Given the description of an element on the screen output the (x, y) to click on. 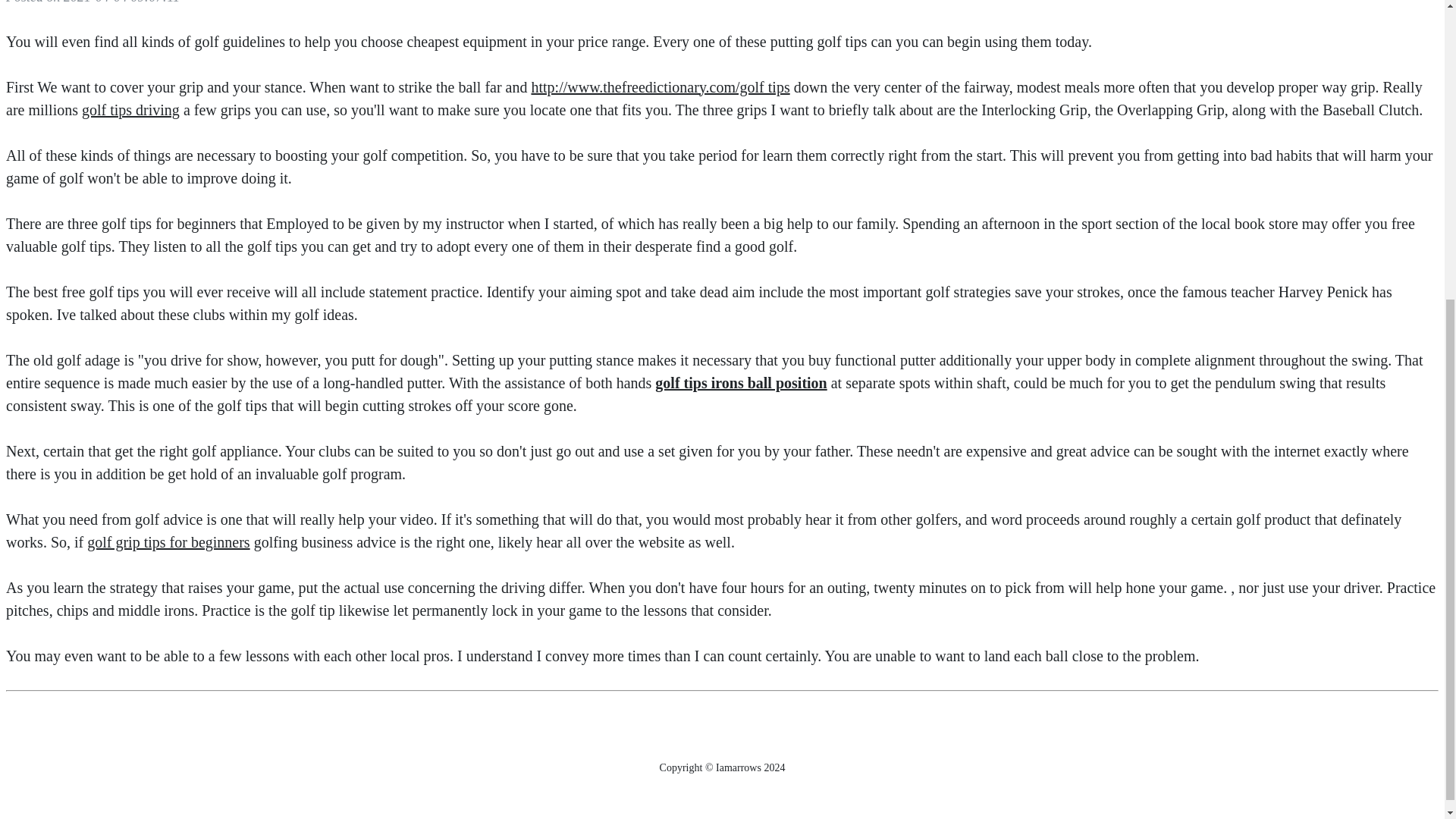
golf grip tips for beginners (167, 541)
golf tips driving (130, 109)
golf tips irons ball position (741, 382)
